Given the description of an element on the screen output the (x, y) to click on. 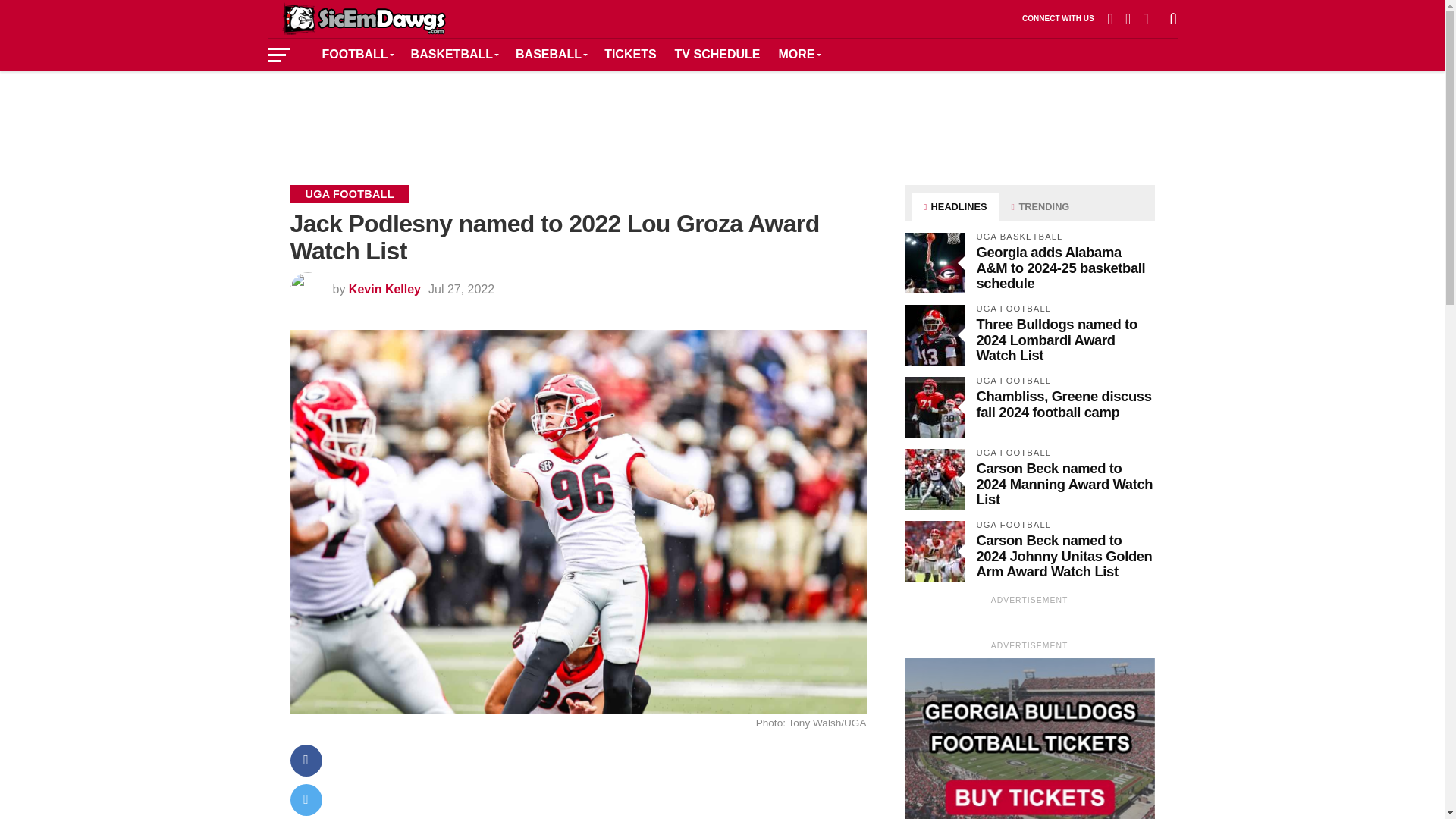
Posts by Kevin Kelley (384, 288)
Advertisement (721, 116)
Advertisement (604, 789)
